Given the description of an element on the screen output the (x, y) to click on. 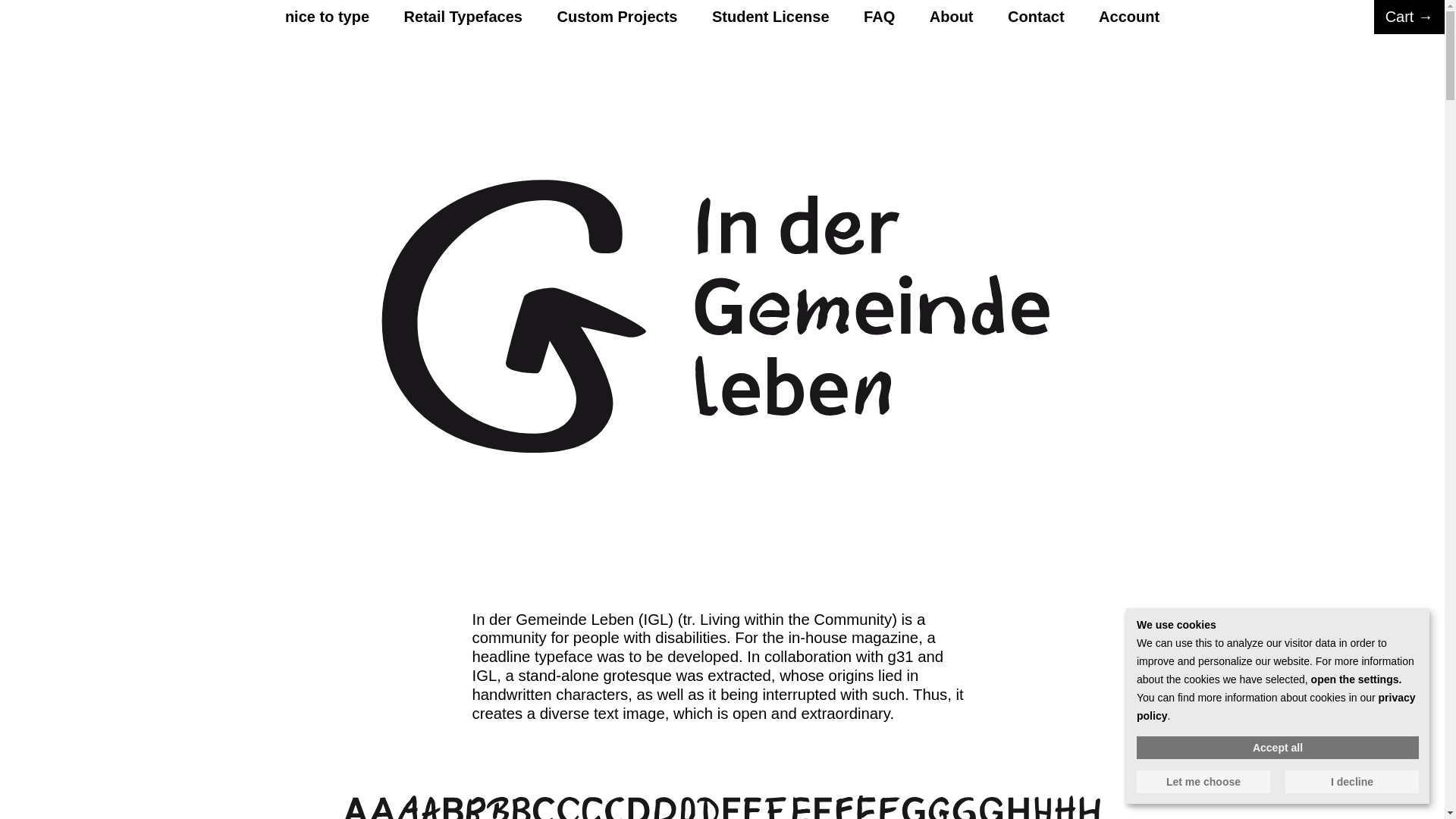
nice to type (327, 16)
About (952, 16)
FAQ (879, 16)
Retail Typefaces (463, 16)
Contact (1035, 16)
Account (1128, 16)
Custom Projects (617, 16)
Student License (769, 16)
